Given the description of an element on the screen output the (x, y) to click on. 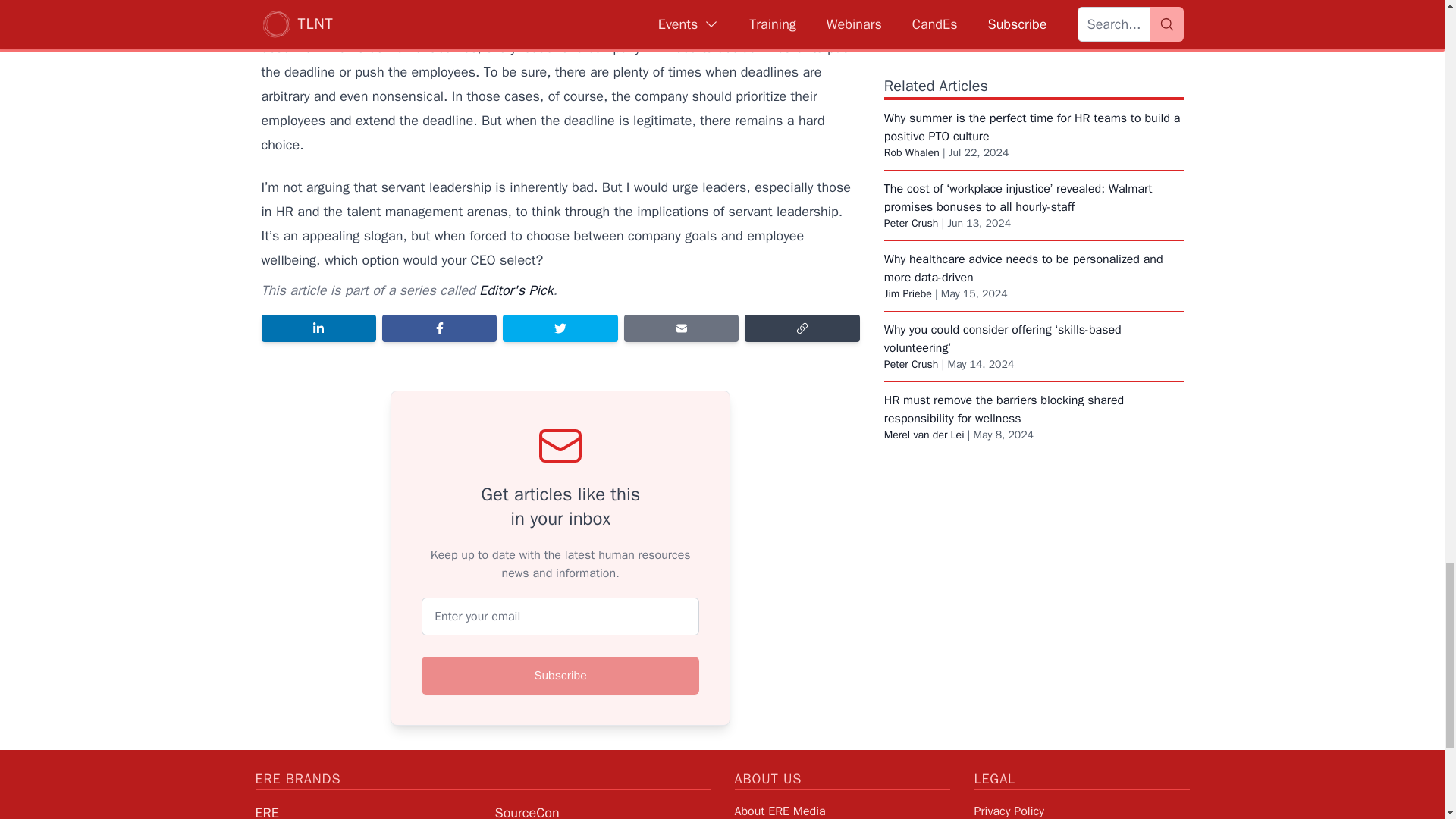
Editor's Pick (516, 289)
Subscribe (560, 675)
